Given the description of an element on the screen output the (x, y) to click on. 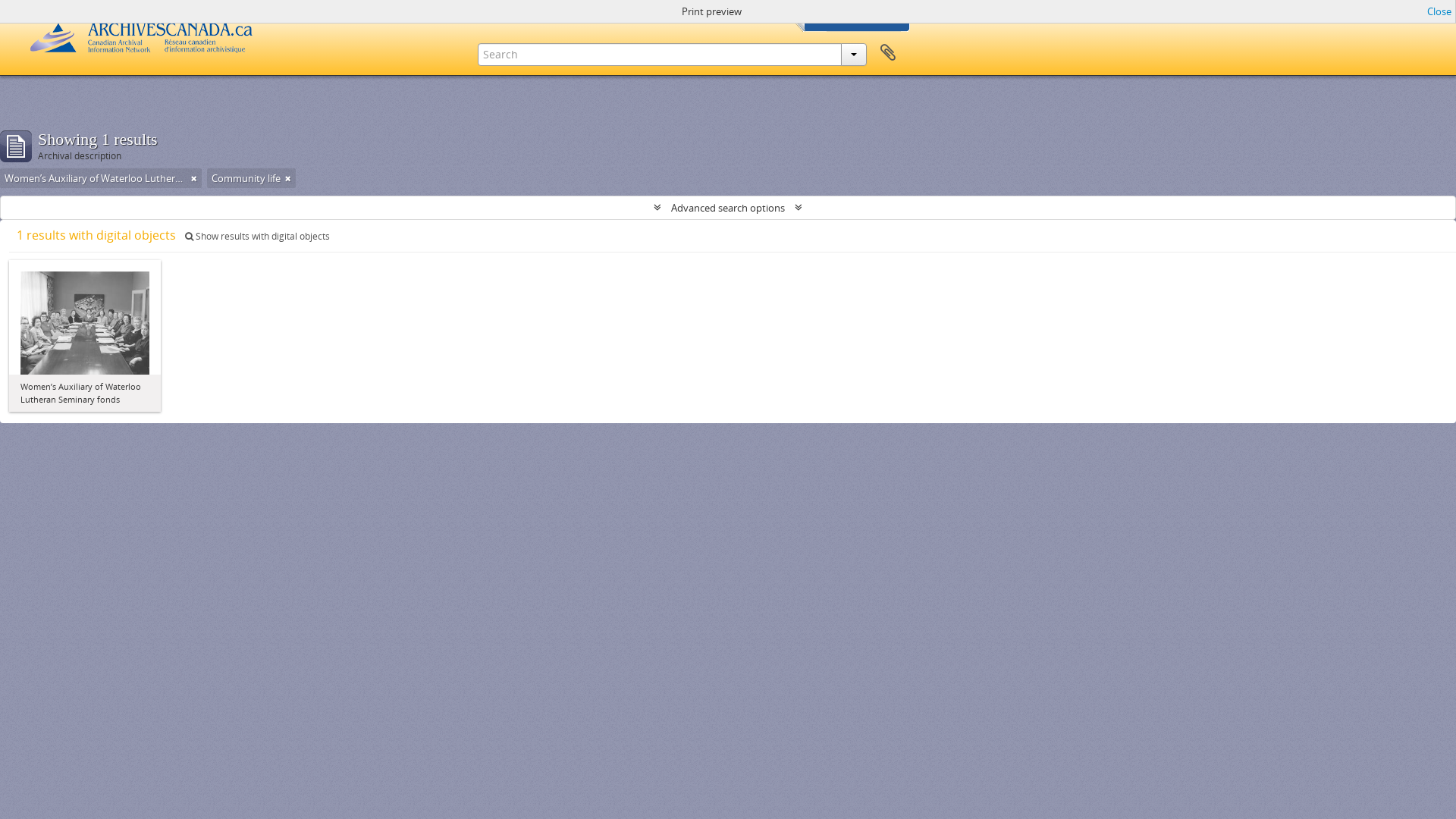
Close Element type: text (1439, 10)
Advanced search options Element type: text (727, 207)
Clipboard Element type: text (887, 53)
home Element type: text (587, 11)
Show results with digital objects Element type: text (257, 235)
contact us Element type: text (646, 11)
log in Element type: text (766, 11)
